Given the description of an element on the screen output the (x, y) to click on. 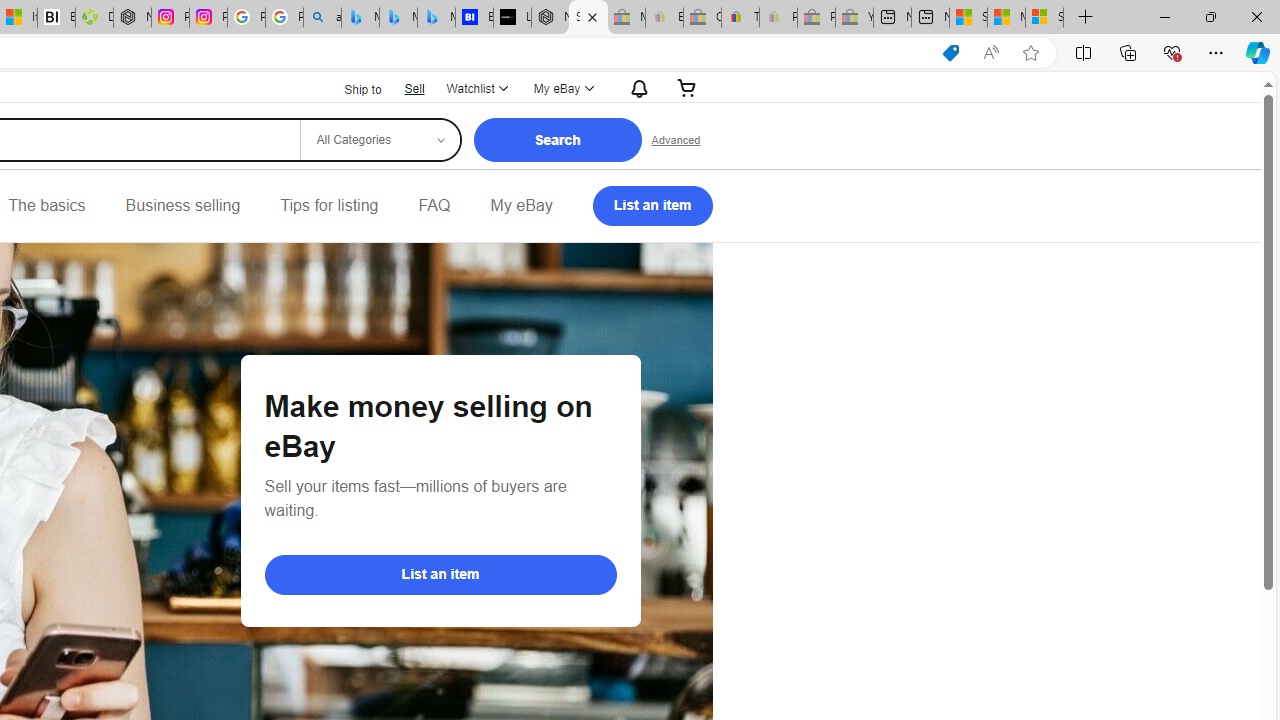
Business selling (182, 205)
